Given the description of an element on the screen output the (x, y) to click on. 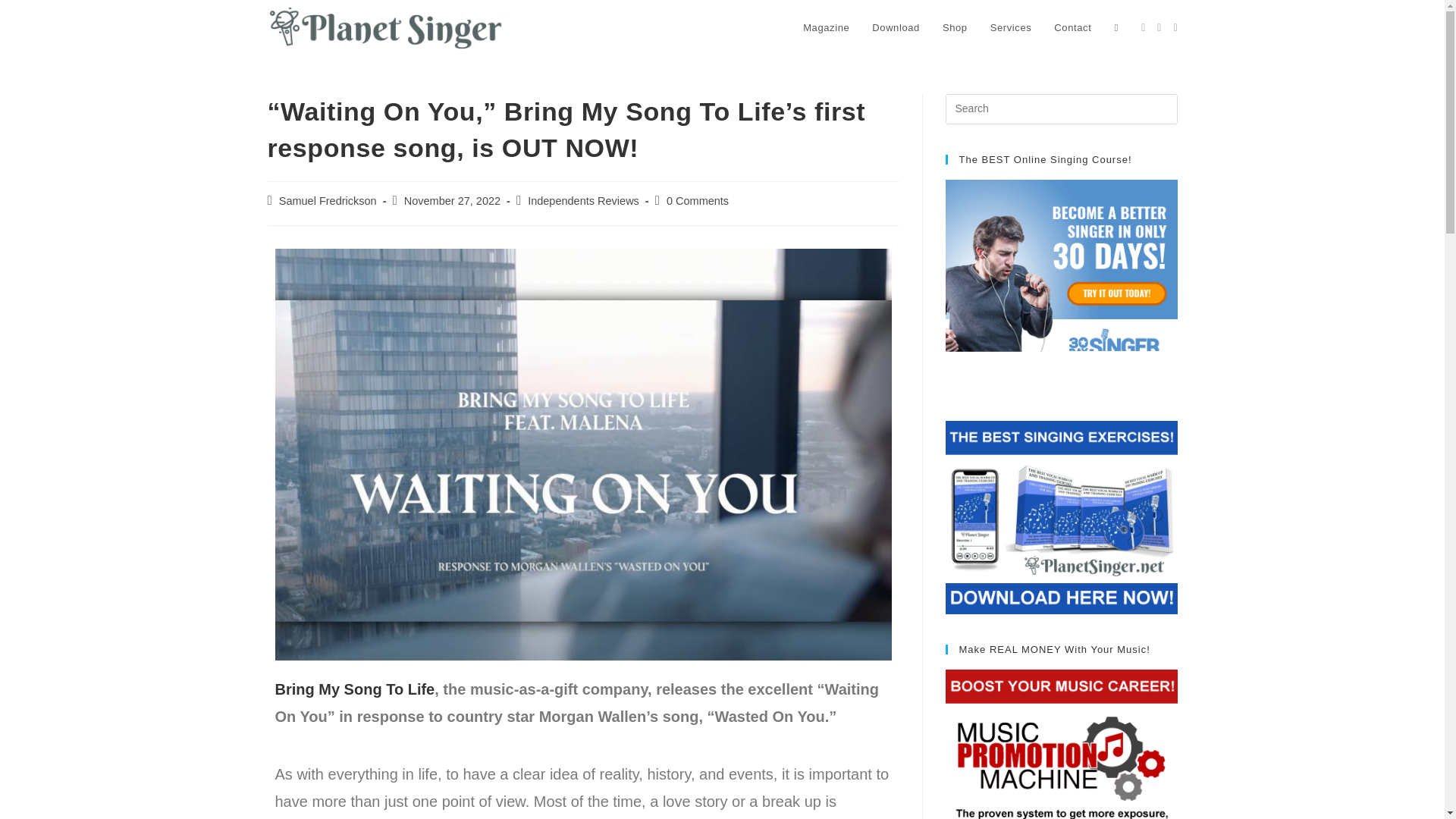
Bring My Song To Life (354, 688)
30DaySinger.com Online Singing Lessons (1060, 276)
Download (895, 28)
0 Comments (697, 200)
Samuel Fredrickson (328, 200)
Contact (1072, 28)
Magazine (826, 28)
Services (1010, 28)
Independents Reviews (583, 200)
Posts by Samuel Fredrickson (328, 200)
